Given the description of an element on the screen output the (x, y) to click on. 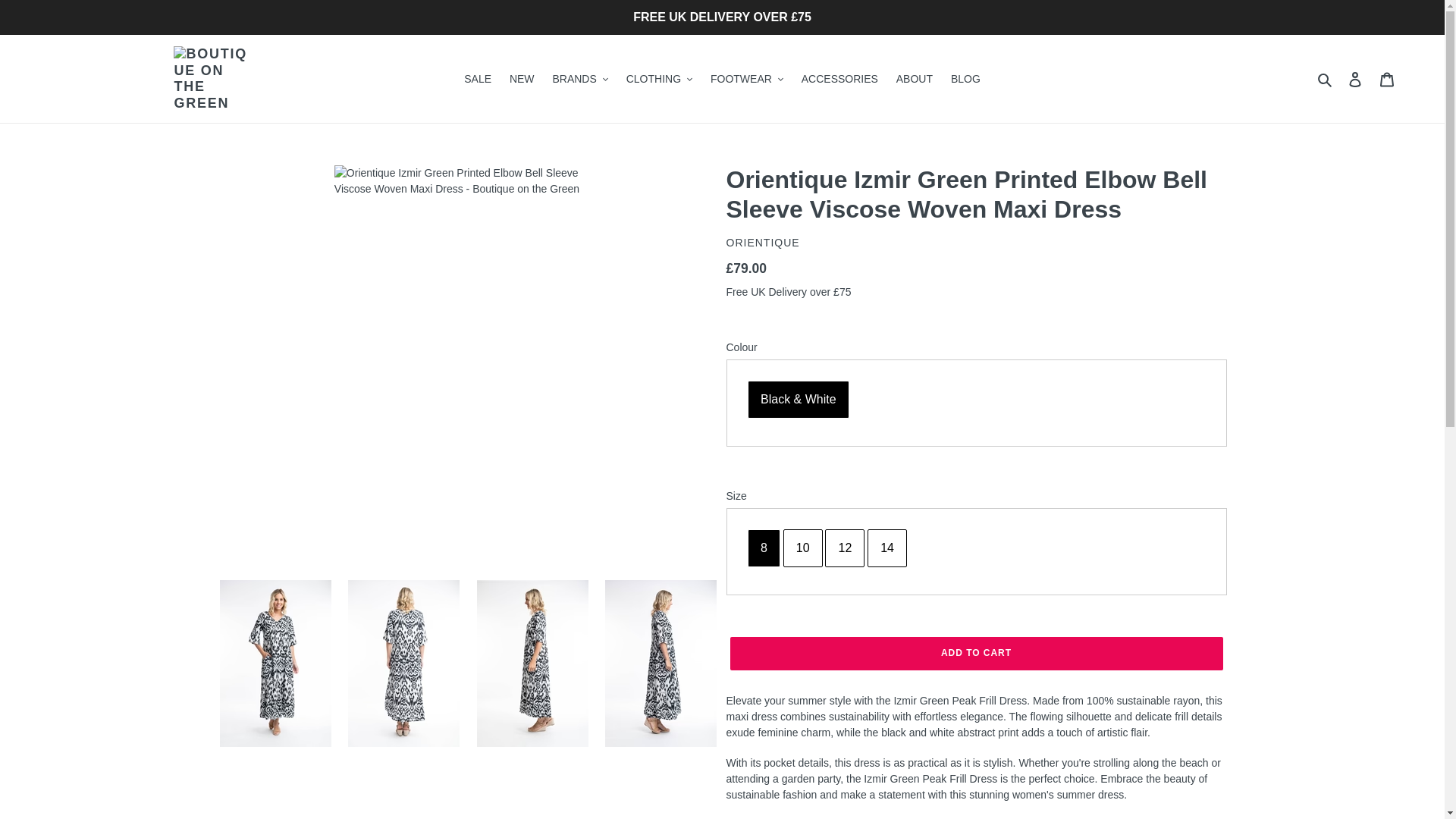
CLOTHING (659, 78)
SALE (478, 78)
BRANDS (579, 78)
NEW (521, 78)
